Given the description of an element on the screen output the (x, y) to click on. 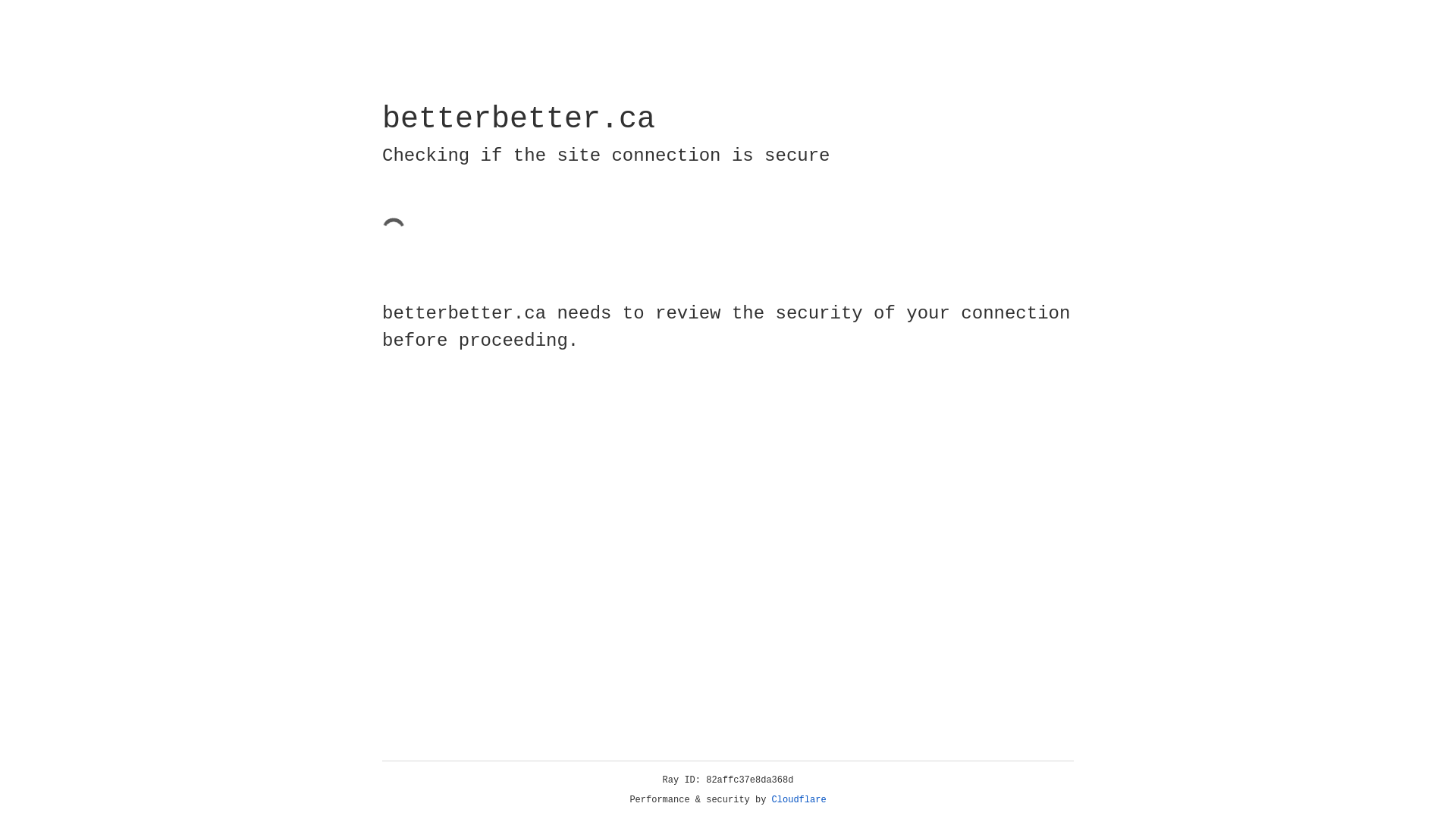
Cloudflare Element type: text (798, 799)
